Given the description of an element on the screen output the (x, y) to click on. 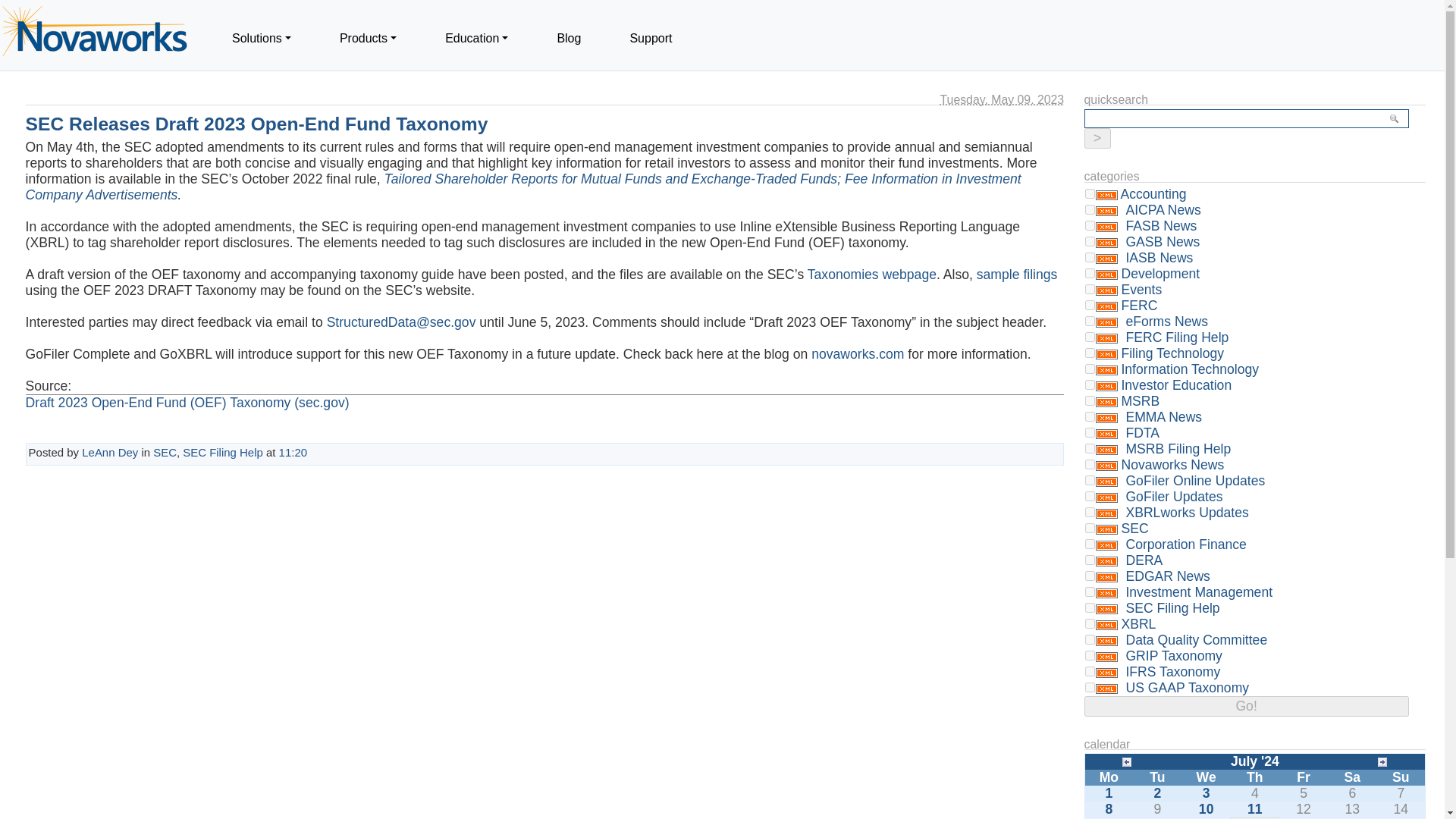
7 (1090, 464)
sample filings (1017, 273)
LeAnn Dey (109, 451)
SEC Filing Help (223, 451)
33 (1090, 432)
6 (1090, 368)
Information and events related to investor education. (1176, 385)
13 (1090, 225)
10 (1090, 305)
Solutions (261, 38)
14 (1090, 241)
